Given the description of an element on the screen output the (x, y) to click on. 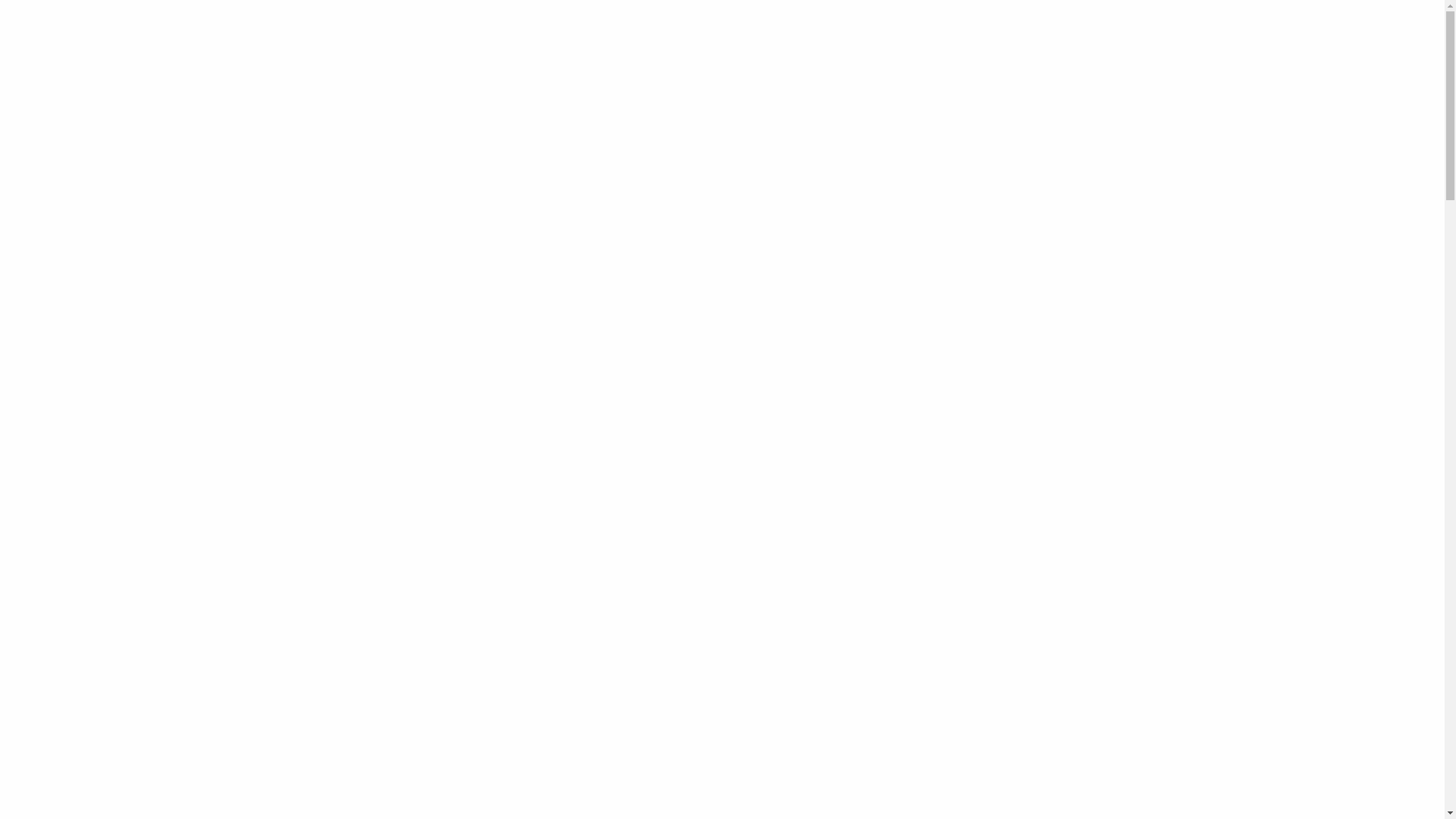
ProfesseurVINCENT Element type: text (647, 456)
CONTACT Element type: text (1088, 40)
ProfesseurJOSIANE Element type: text (647, 502)
PROFESSEURS Element type: text (917, 40)
MEMBRES Element type: text (1008, 40)
ACCUEIL Element type: text (662, 40)
Cours Element type: text (708, 198)
CONSULTER HORAIRES Element type: text (464, 794)
Accueil Element type: text (665, 198)
ProfesseurJEAN-VIRGILE Element type: text (1091, 456)
COURS Element type: text (731, 40)
